Given the description of an element on the screen output the (x, y) to click on. 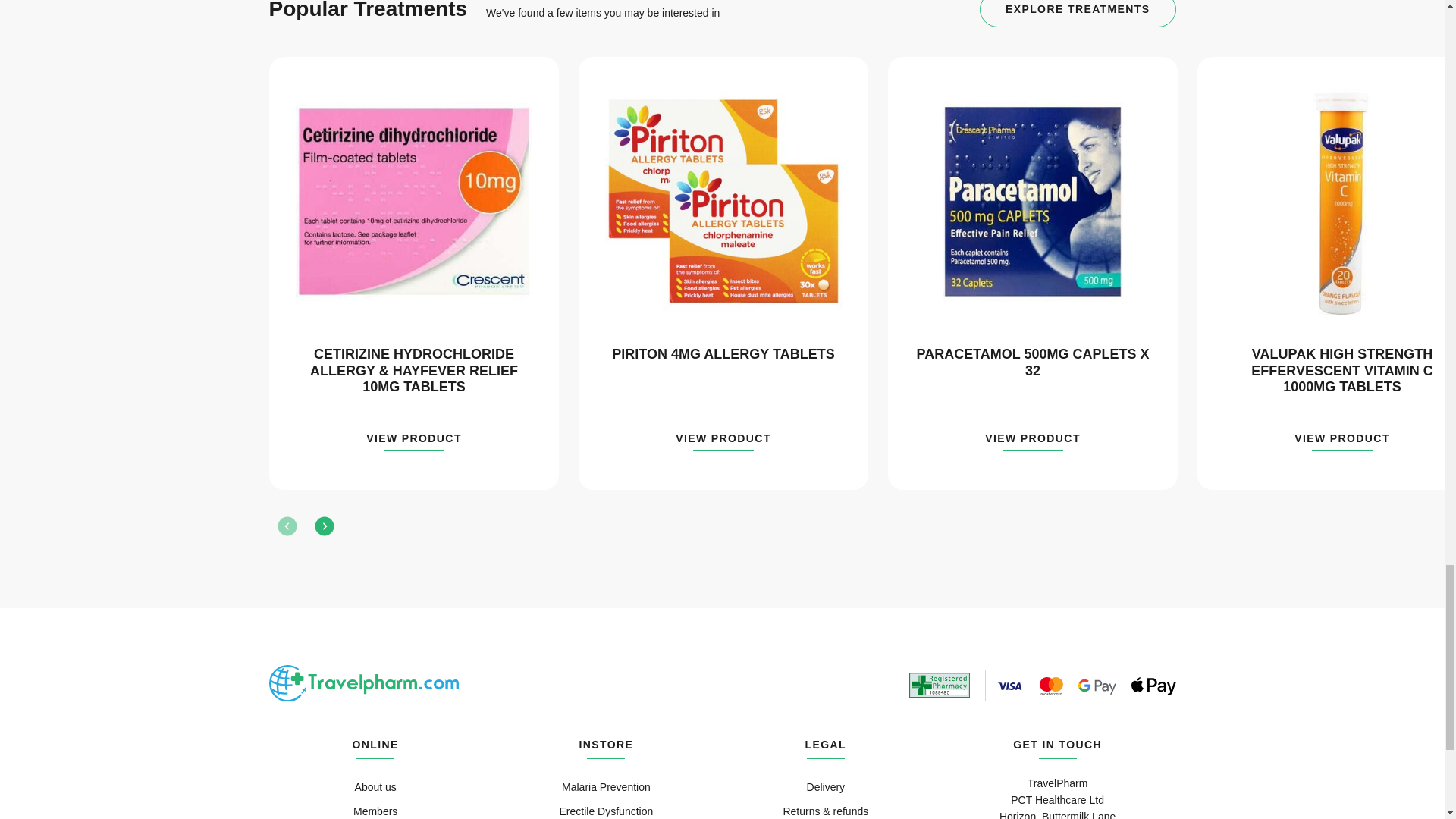
General Pharmaceutical Council (938, 685)
View product (414, 441)
View product (723, 441)
View product (1342, 441)
logo (362, 683)
View product (1032, 441)
